Given the description of an element on the screen output the (x, y) to click on. 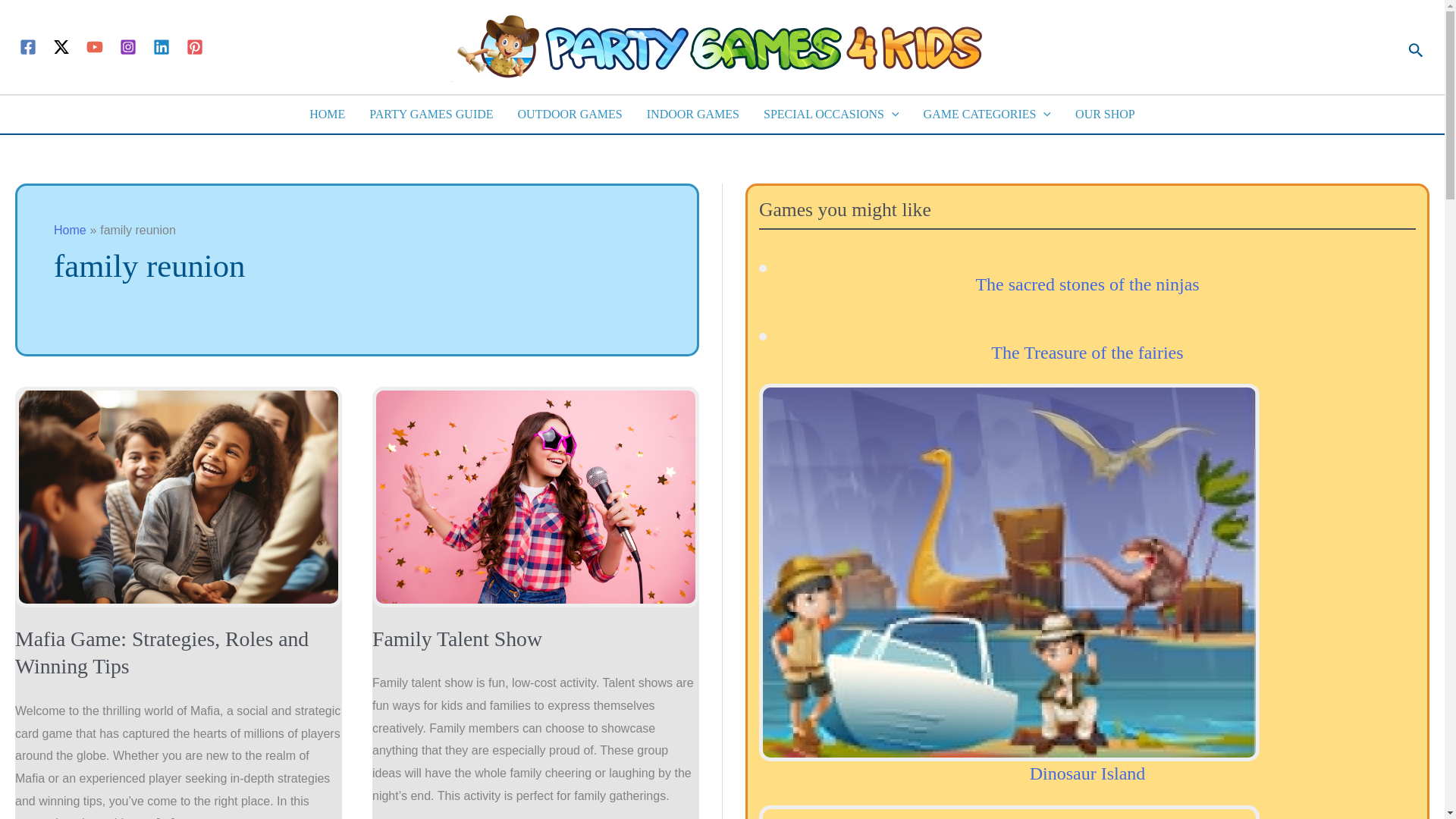
PARTY GAMES GUIDE (430, 114)
HOME (326, 114)
SPECIAL OCCASIONS (831, 114)
OUTDOOR GAMES (569, 114)
Search (1414, 46)
INDOOR GAMES (692, 114)
GAME CATEGORIES (986, 114)
